Given the description of an element on the screen output the (x, y) to click on. 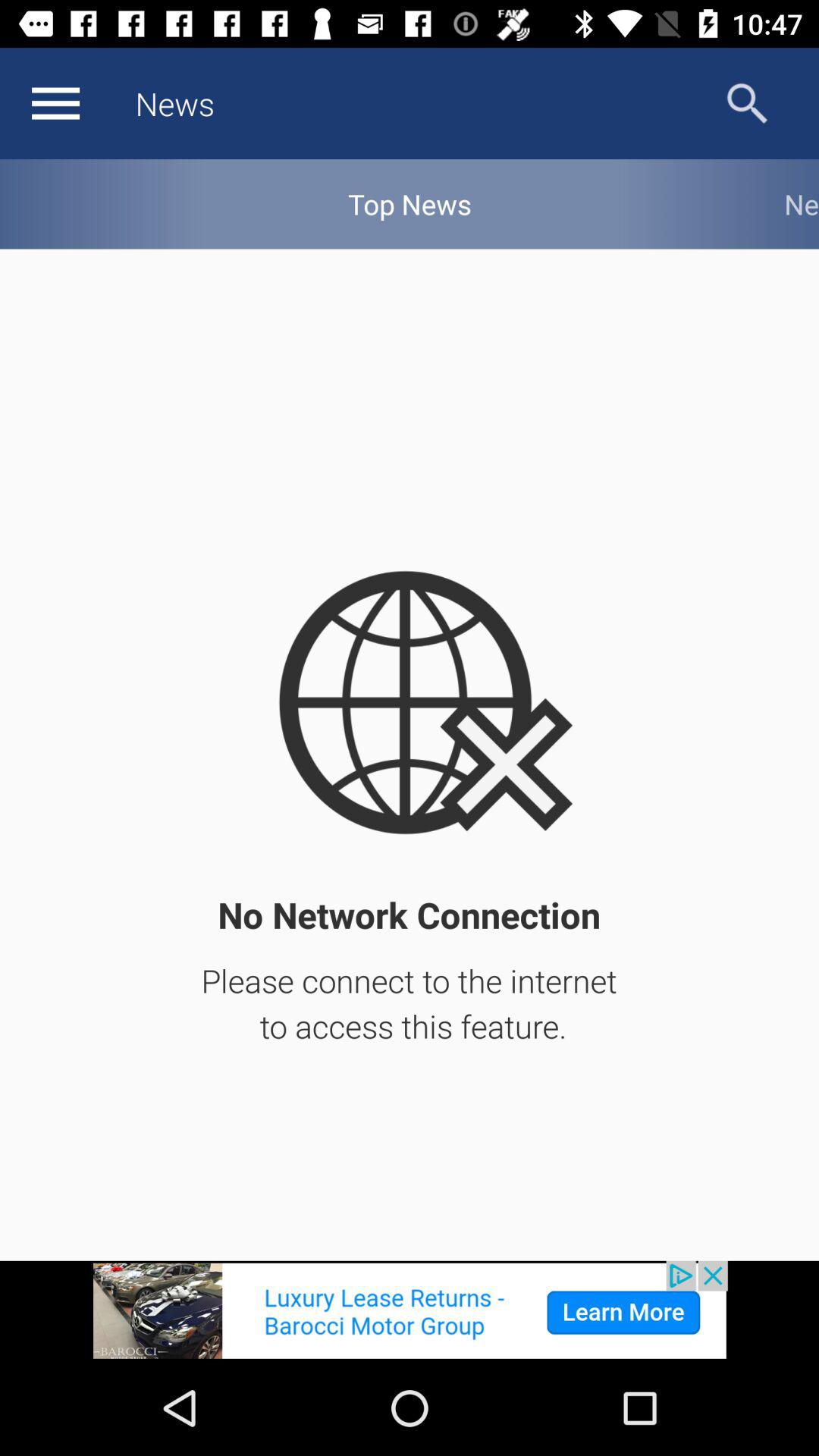
options switch (55, 103)
